Given the description of an element on the screen output the (x, y) to click on. 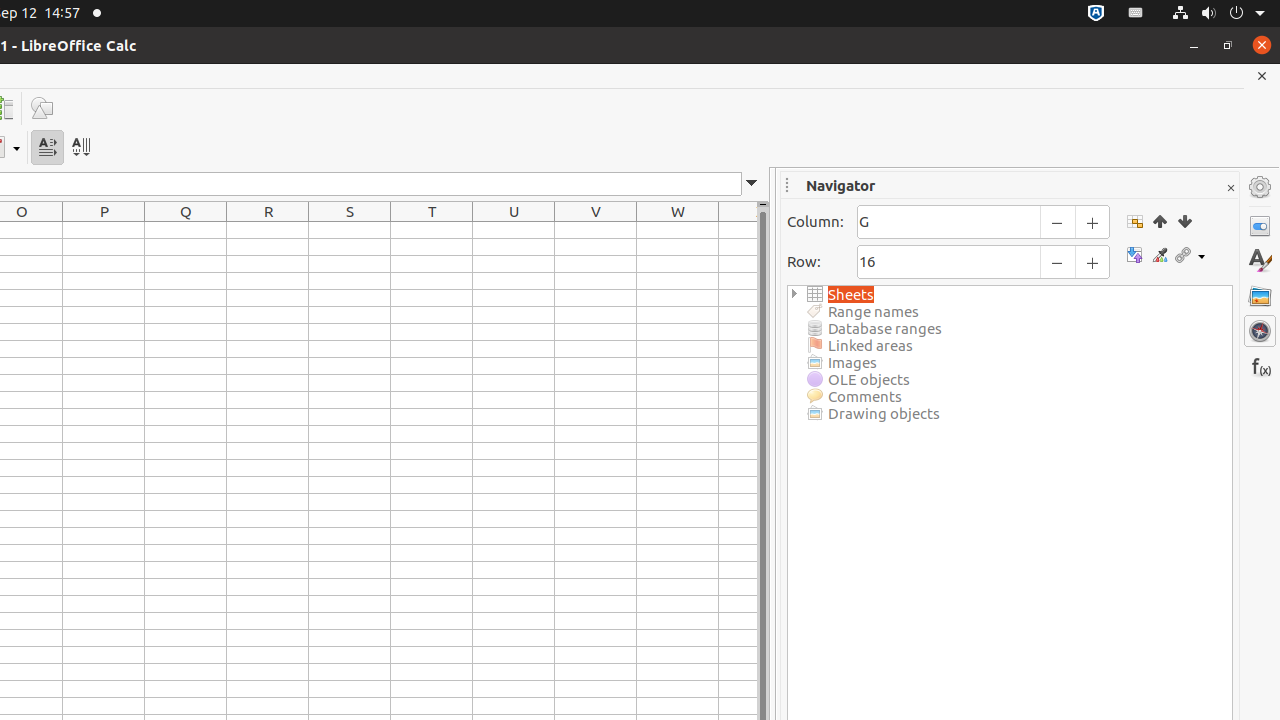
Properties Element type: radio-button (1260, 226)
